Given the description of an element on the screen output the (x, y) to click on. 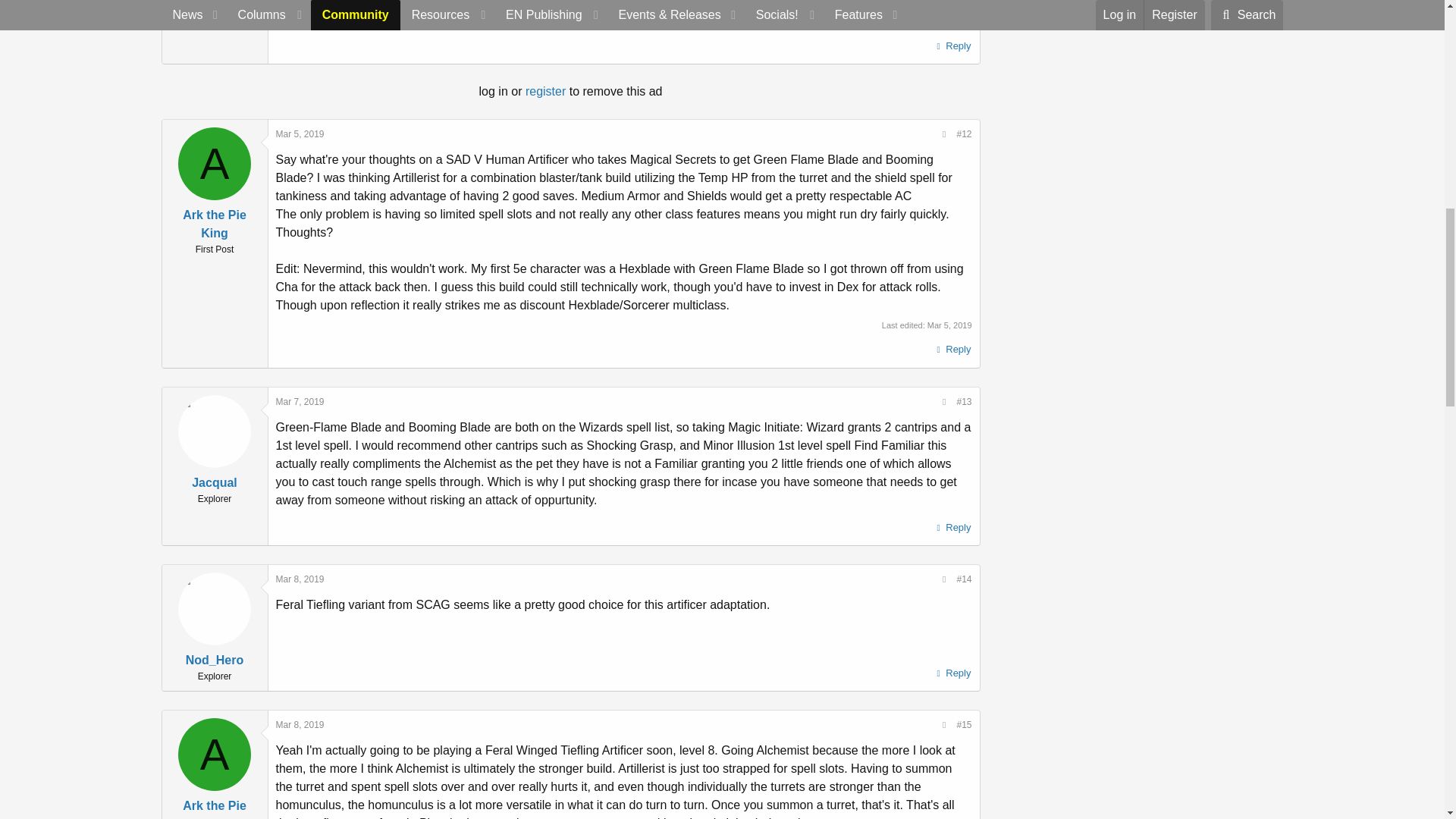
Reply, quoting this message (952, 46)
Mar 8, 2019 at 7:06 AM (300, 579)
Reply, quoting this message (952, 672)
Mar 8, 2019 at 8:11 PM (300, 724)
Reply, quoting this message (952, 527)
Reply, quoting this message (952, 349)
Mar 5, 2019 at 7:38 PM (949, 325)
Mar 7, 2019 at 11:52 AM (300, 401)
Mar 5, 2019 at 6:47 PM (300, 133)
